Given the description of an element on the screen output the (x, y) to click on. 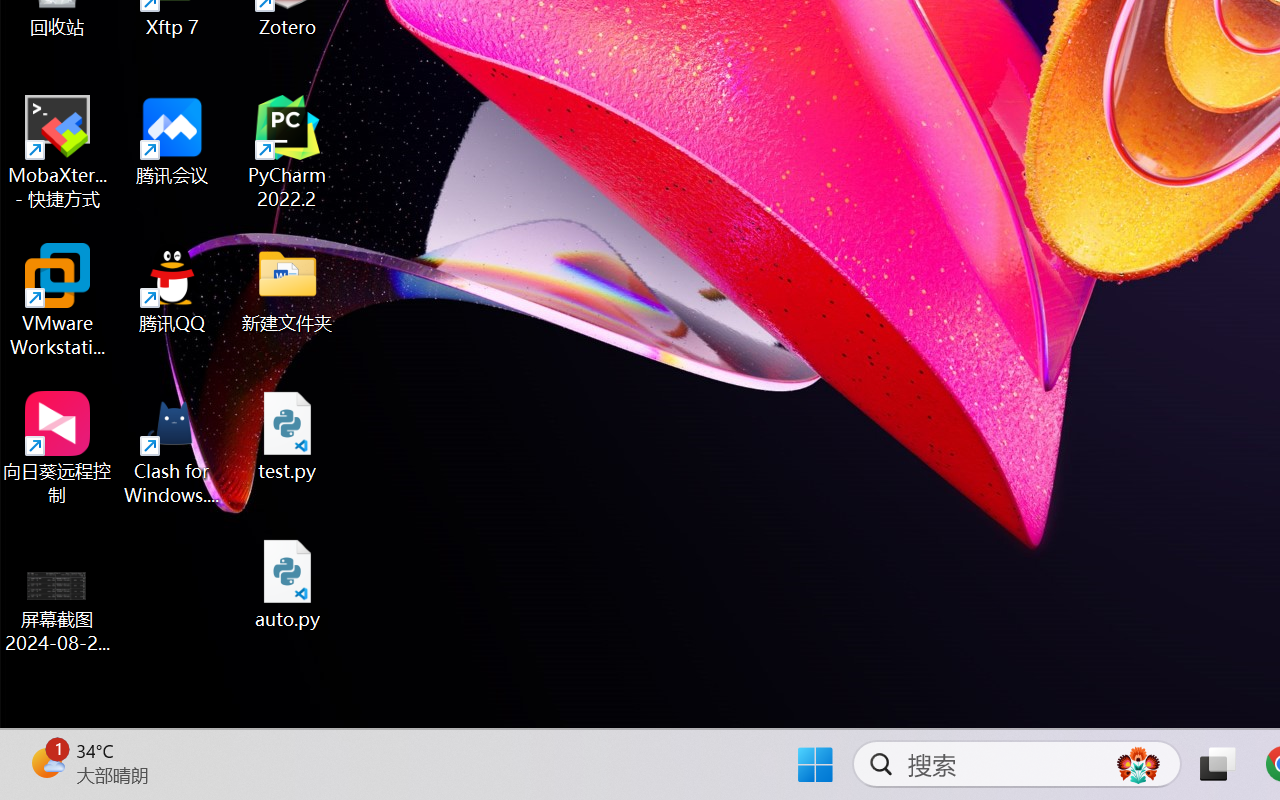
auto.py (287, 584)
